Given the description of an element on the screen output the (x, y) to click on. 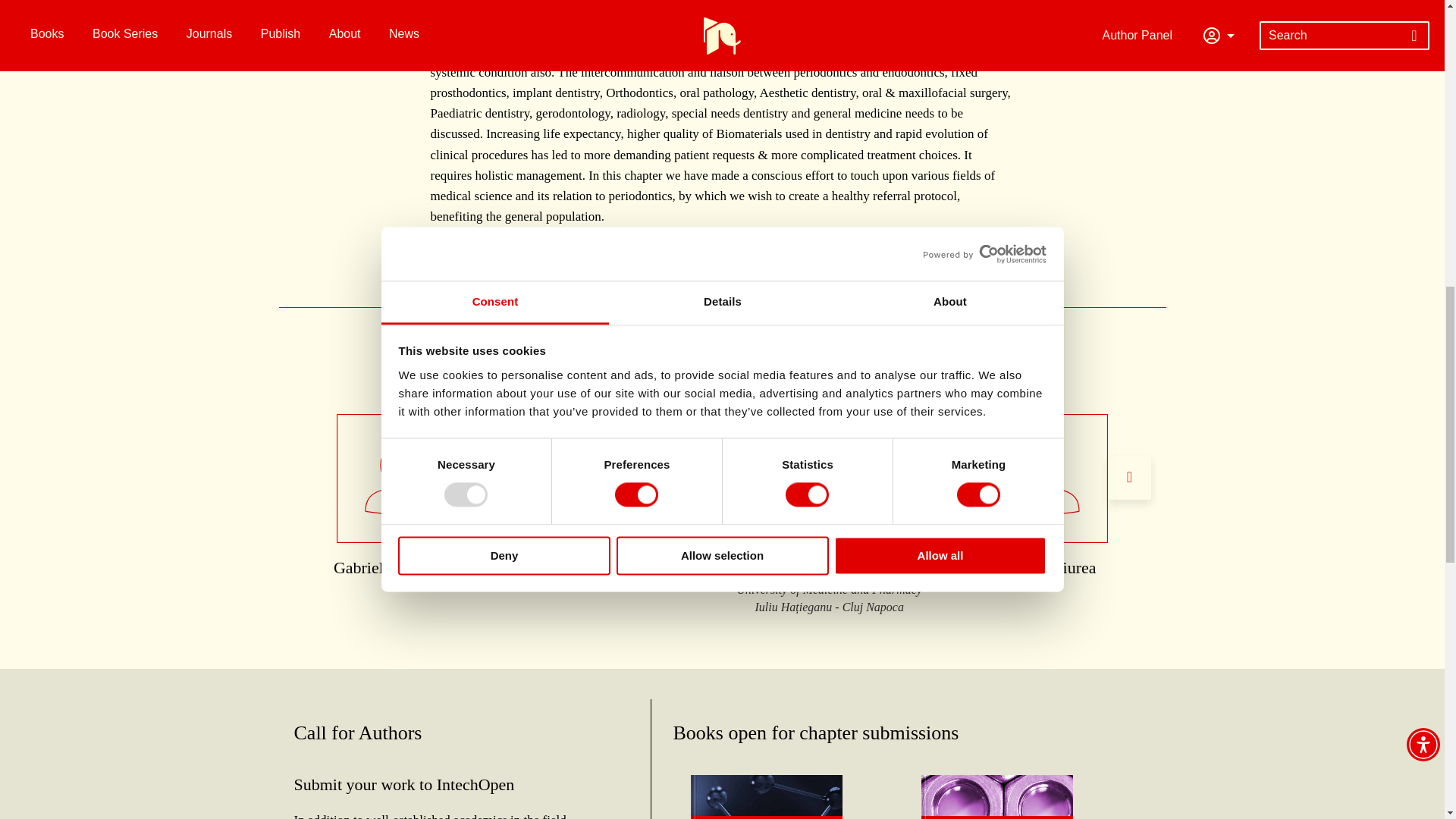
IntechOpen (997, 817)
IntechOpen (766, 817)
